Given the description of an element on the screen output the (x, y) to click on. 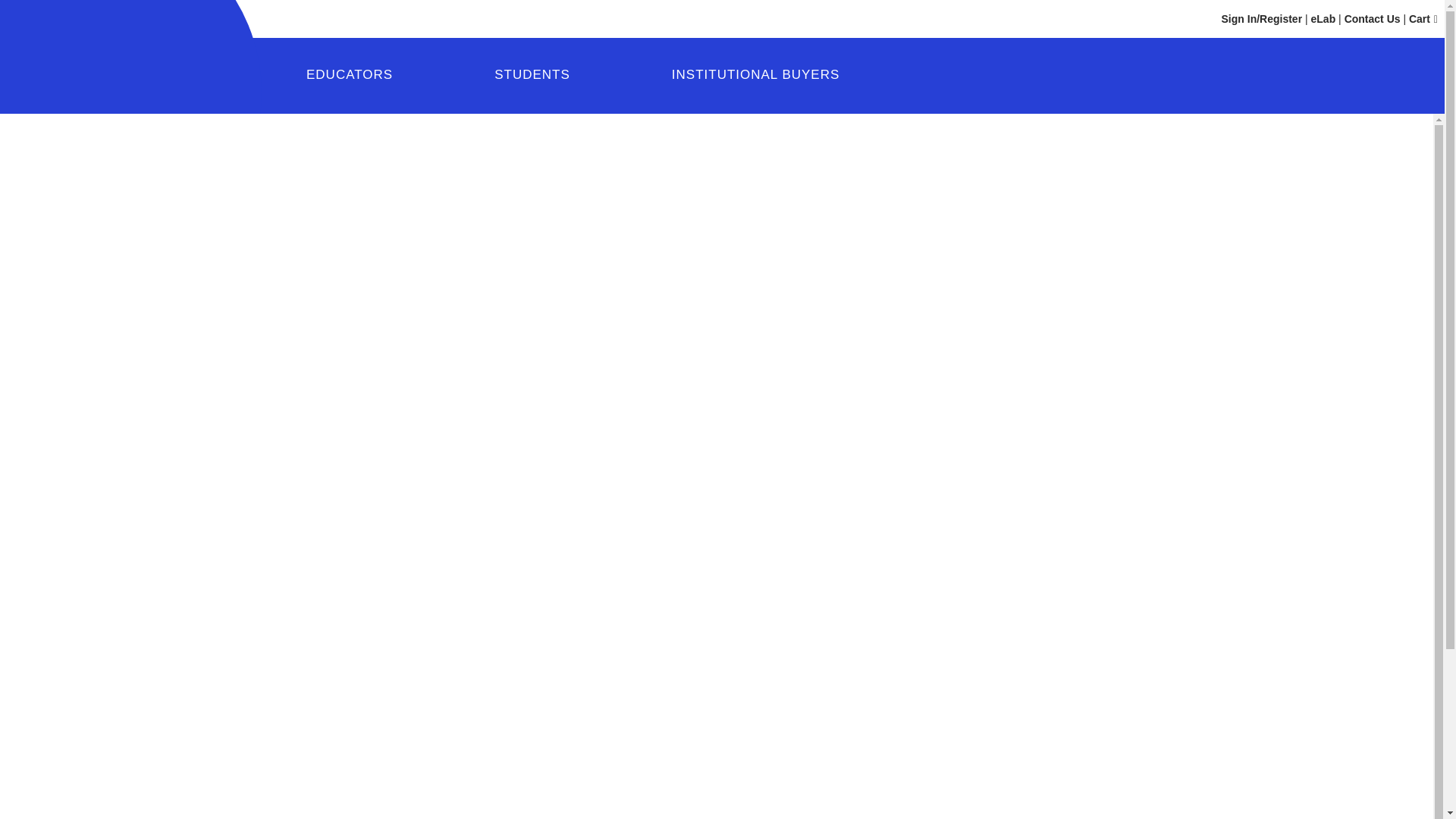
Contact Us (1371, 19)
Labyrinth Learning (107, 56)
Cart (1423, 19)
eLab (1323, 19)
EDUCATORS (349, 76)
